Given the description of an element on the screen output the (x, y) to click on. 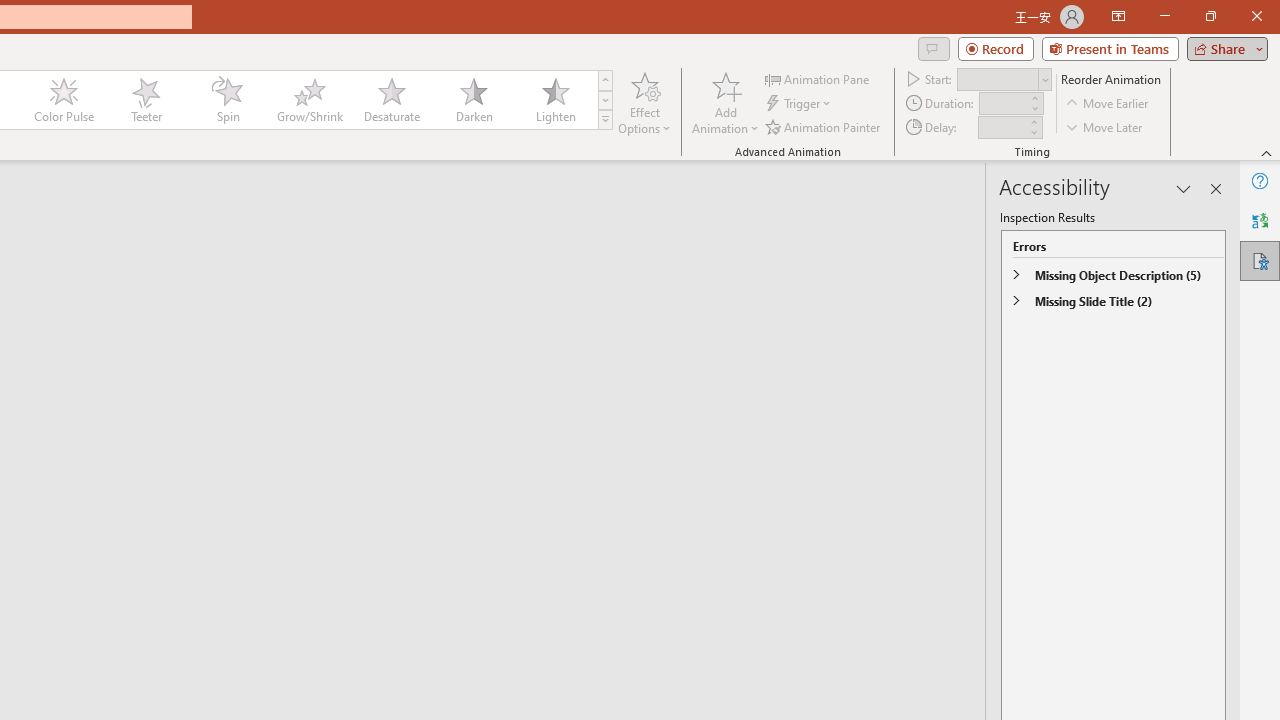
Grow/Shrink (309, 100)
Add Animation (725, 102)
